Given the description of an element on the screen output the (x, y) to click on. 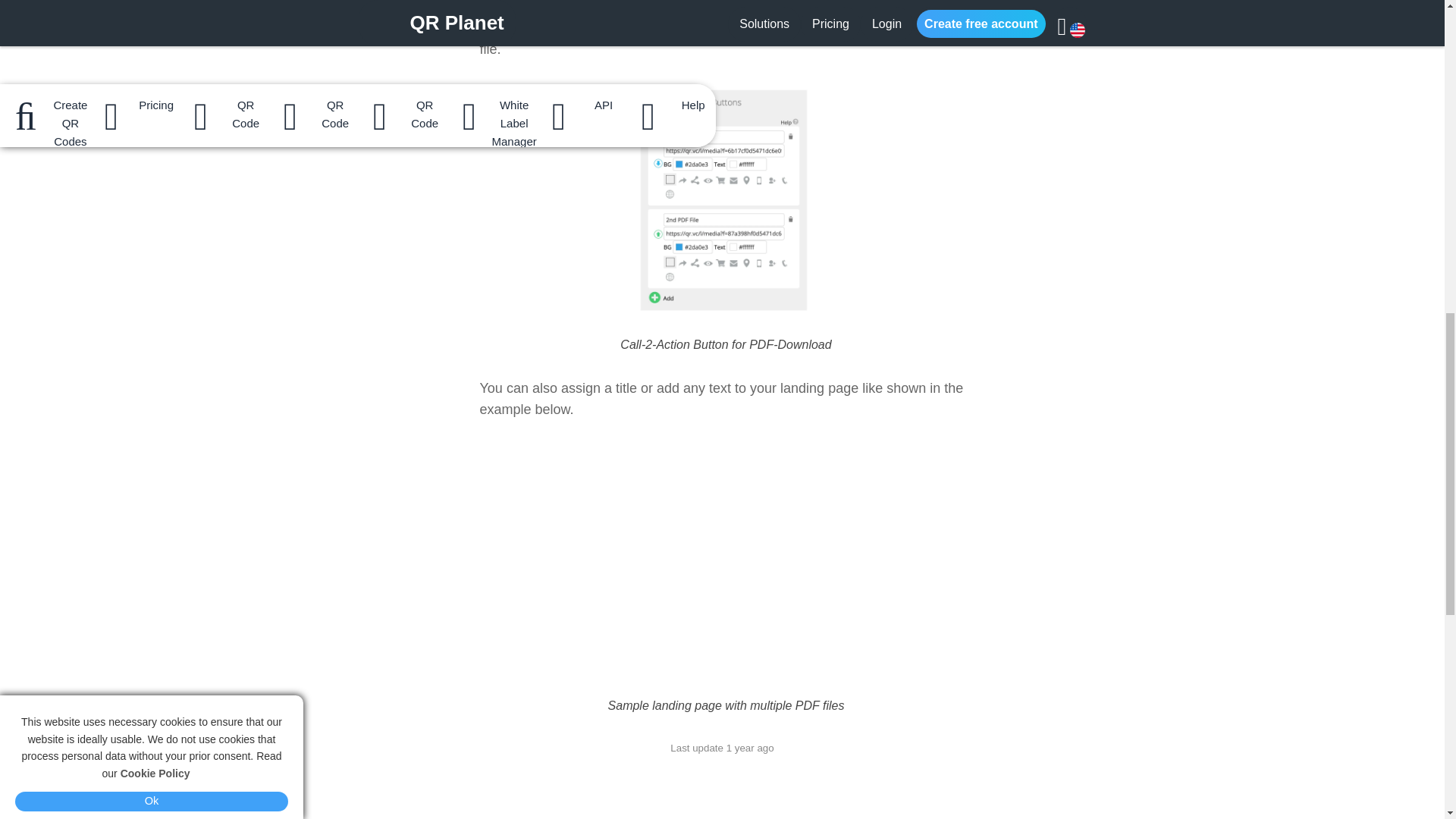
Call-2-Action-Buttons (661, 6)
